Given the description of an element on the screen output the (x, y) to click on. 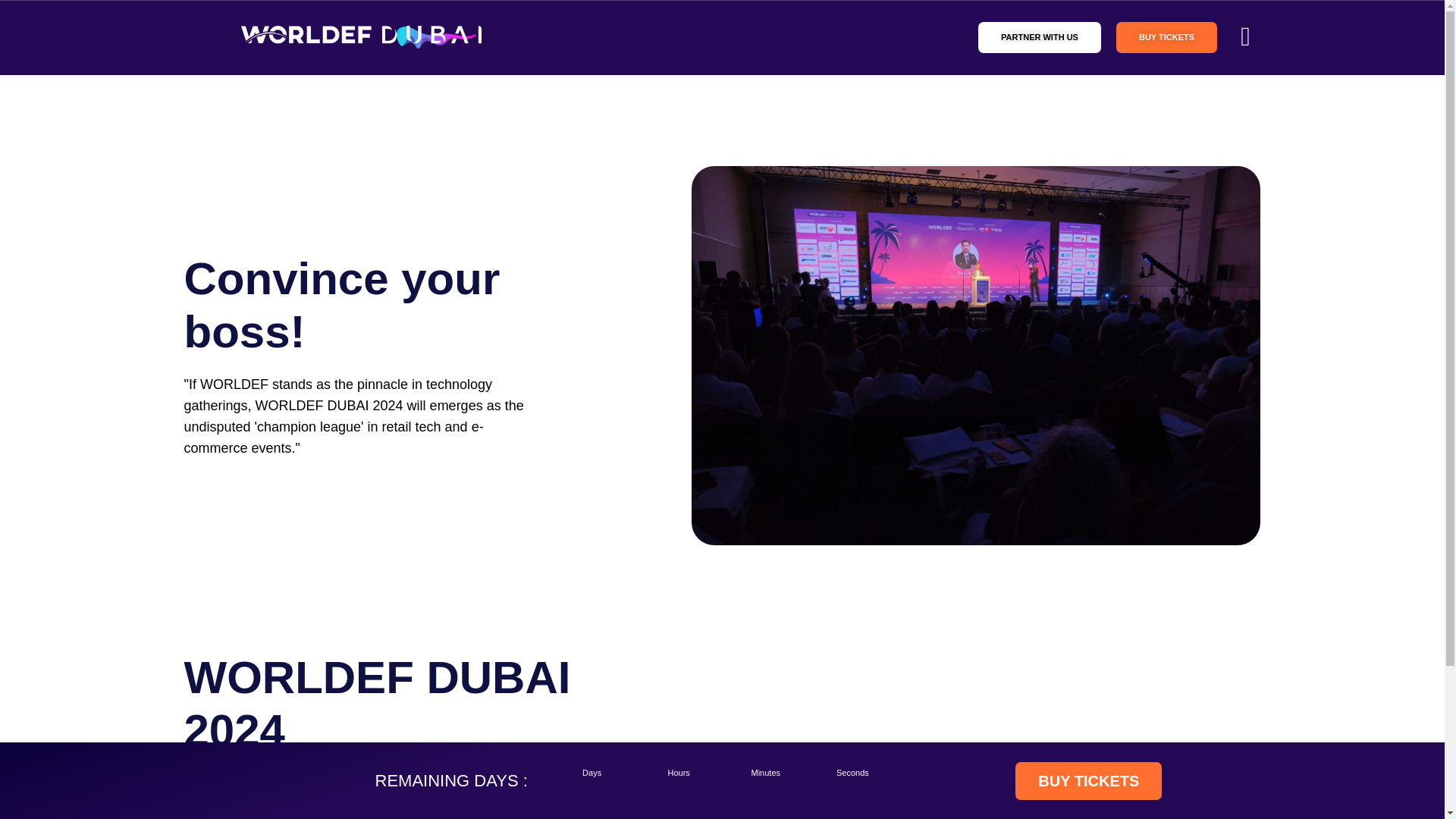
BUY TICKETS (1087, 780)
BUY TICKETS (1166, 36)
PARTNER WITH US (1039, 36)
